Given the description of an element on the screen output the (x, y) to click on. 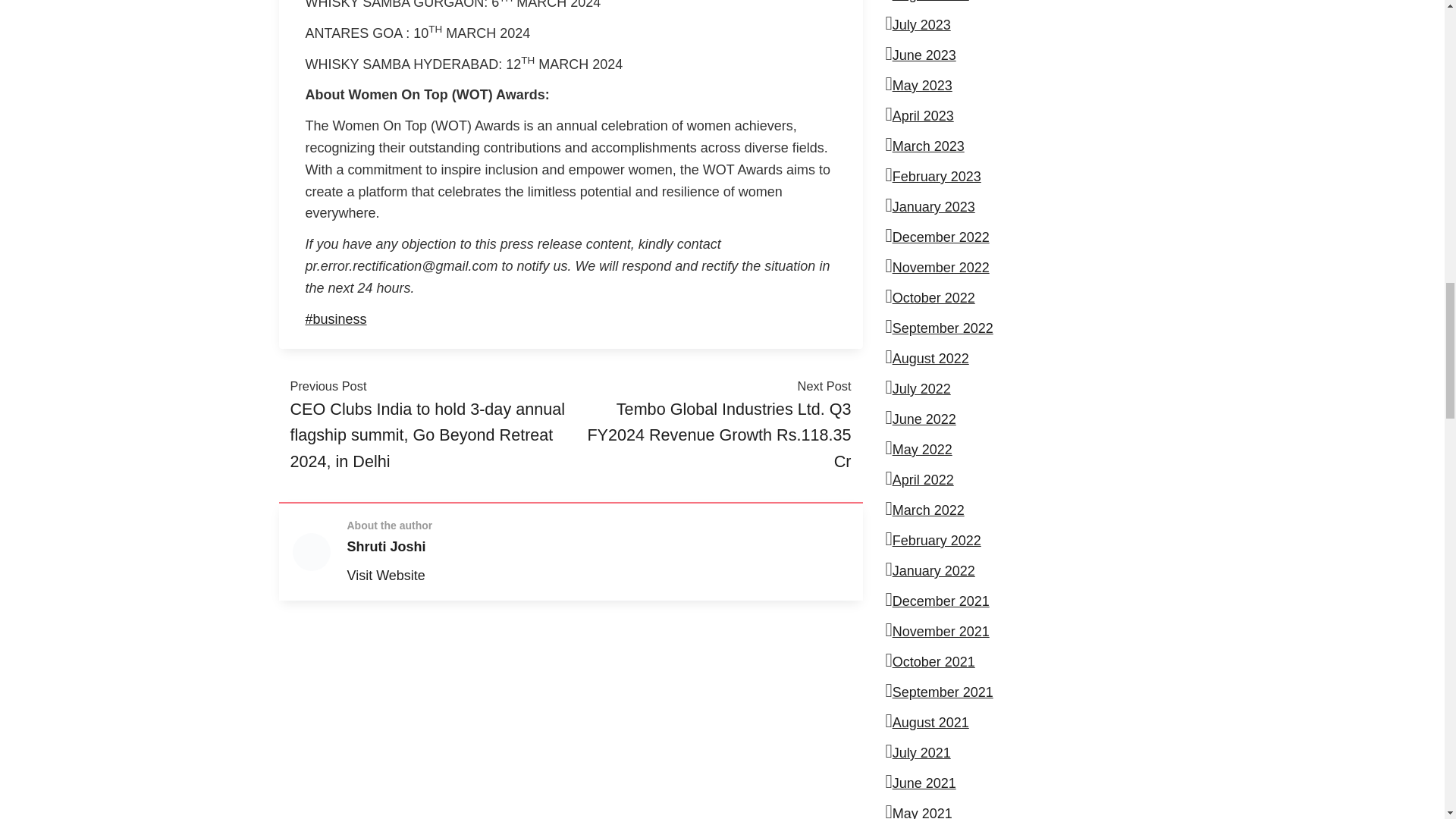
Visit Website (386, 575)
Shruti Joshi (386, 546)
